Given the description of an element on the screen output the (x, y) to click on. 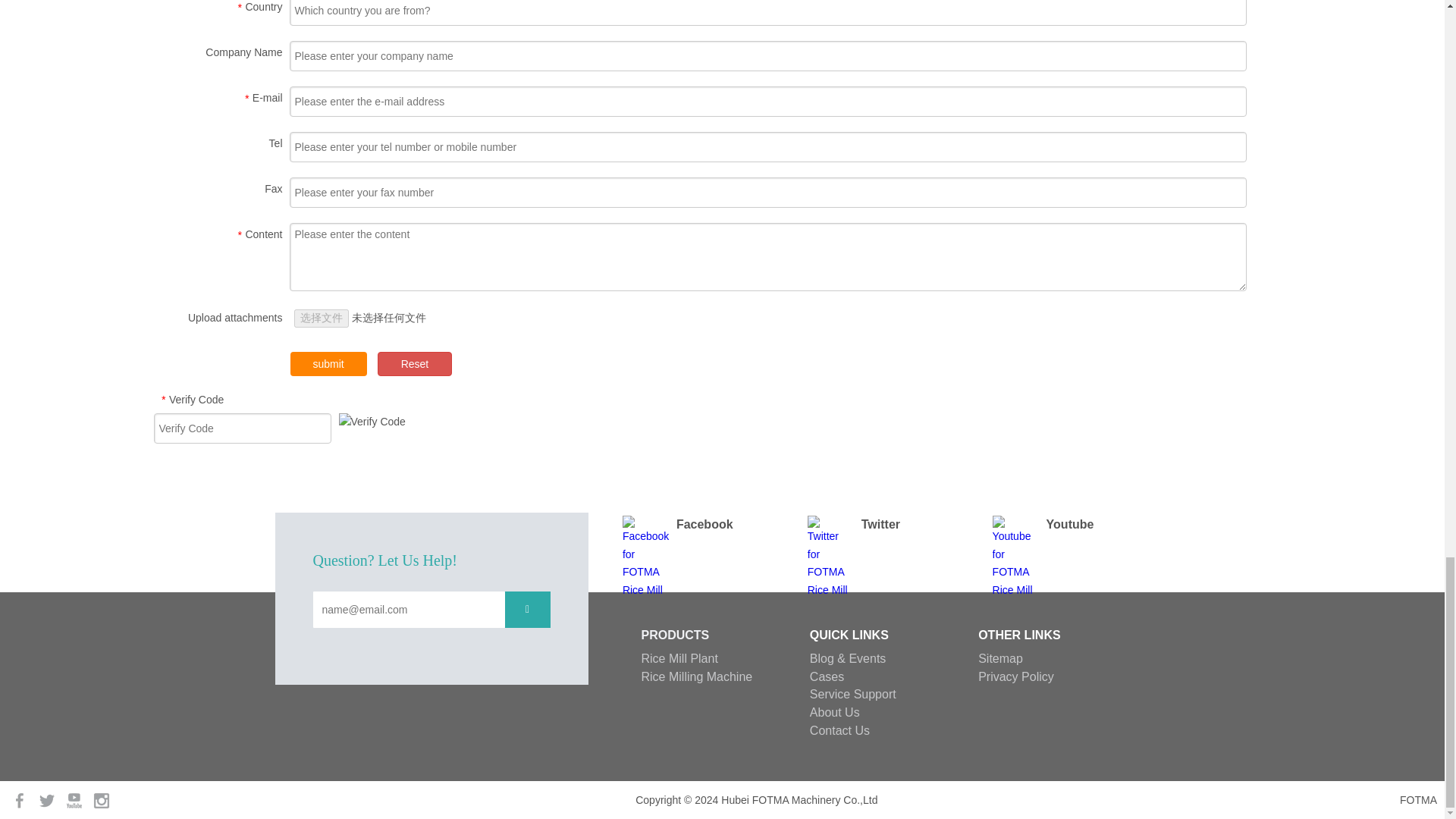
Rice Mill Plant (679, 658)
Instagram (100, 799)
Privacy Policy (1016, 675)
Service Support (852, 694)
Contact Us (839, 730)
About Us (834, 712)
Facebook (20, 799)
Cases (826, 675)
Twitter (48, 799)
Sitemap (1000, 658)
Rice Milling Machine (697, 675)
Youtube (75, 799)
